Given the description of an element on the screen output the (x, y) to click on. 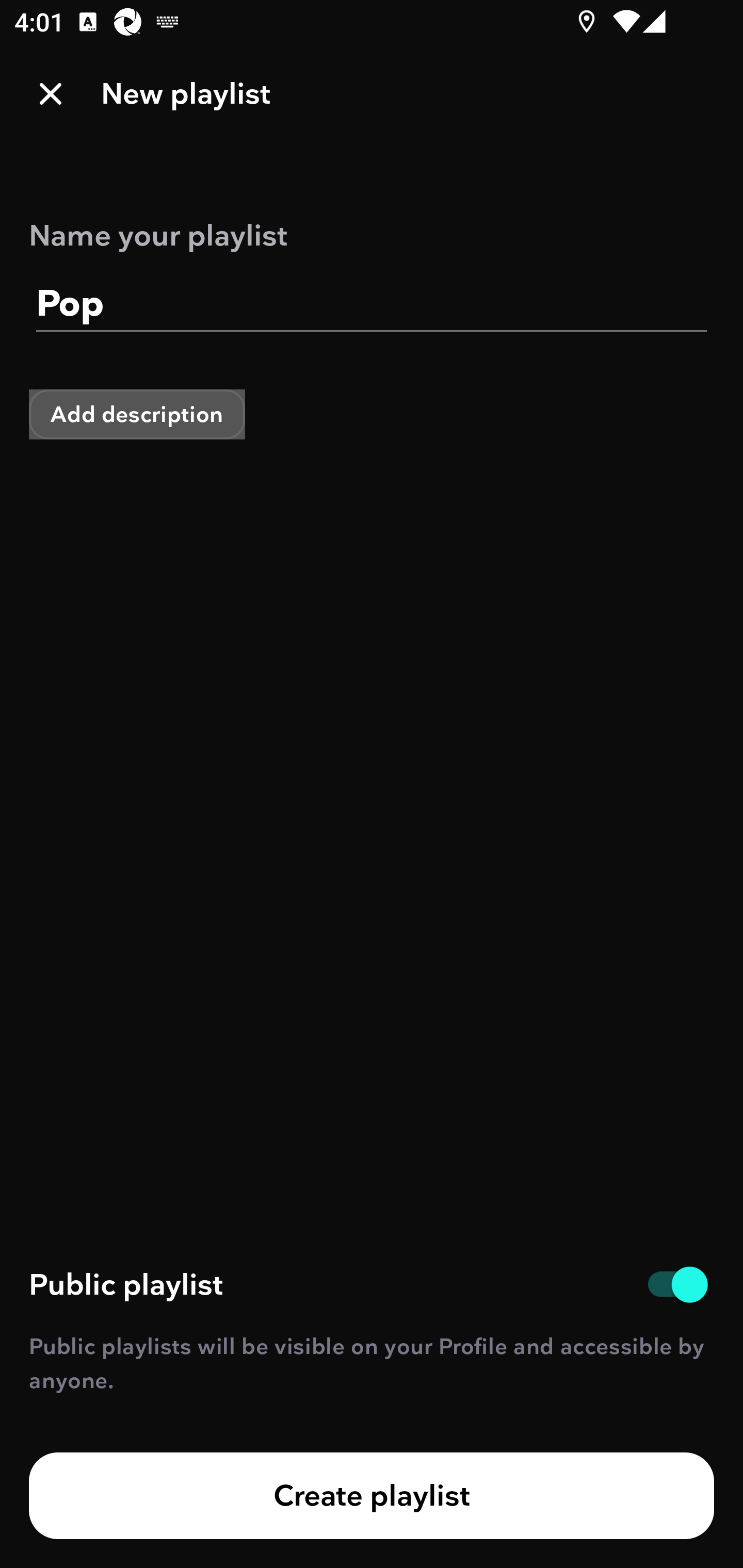
Back (50, 93)
Pop (371, 303)
Add description (136, 413)
Create playlist (371, 1495)
